Given the description of an element on the screen output the (x, y) to click on. 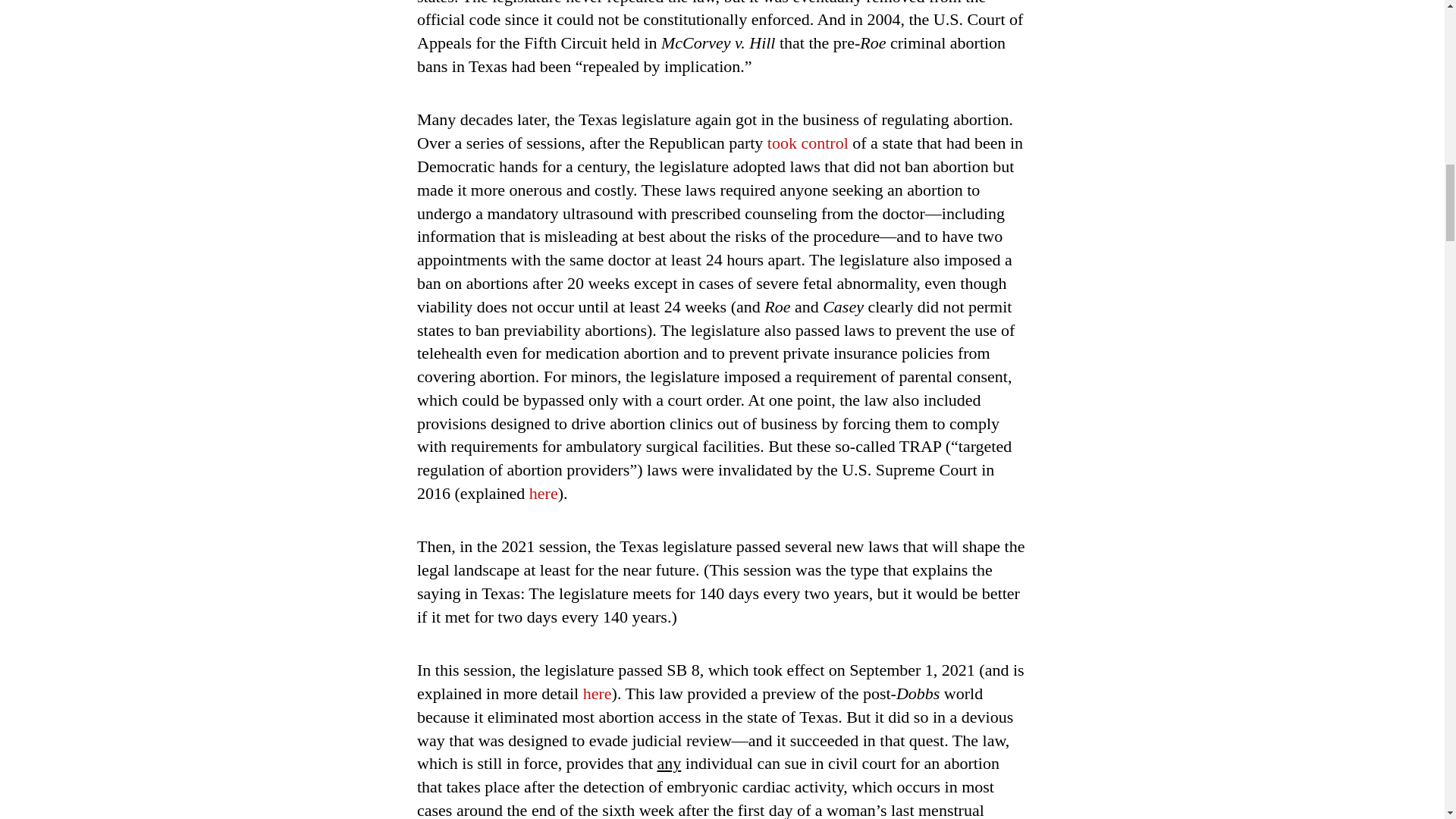
here (543, 493)
here (597, 692)
took control (807, 142)
